Given the description of an element on the screen output the (x, y) to click on. 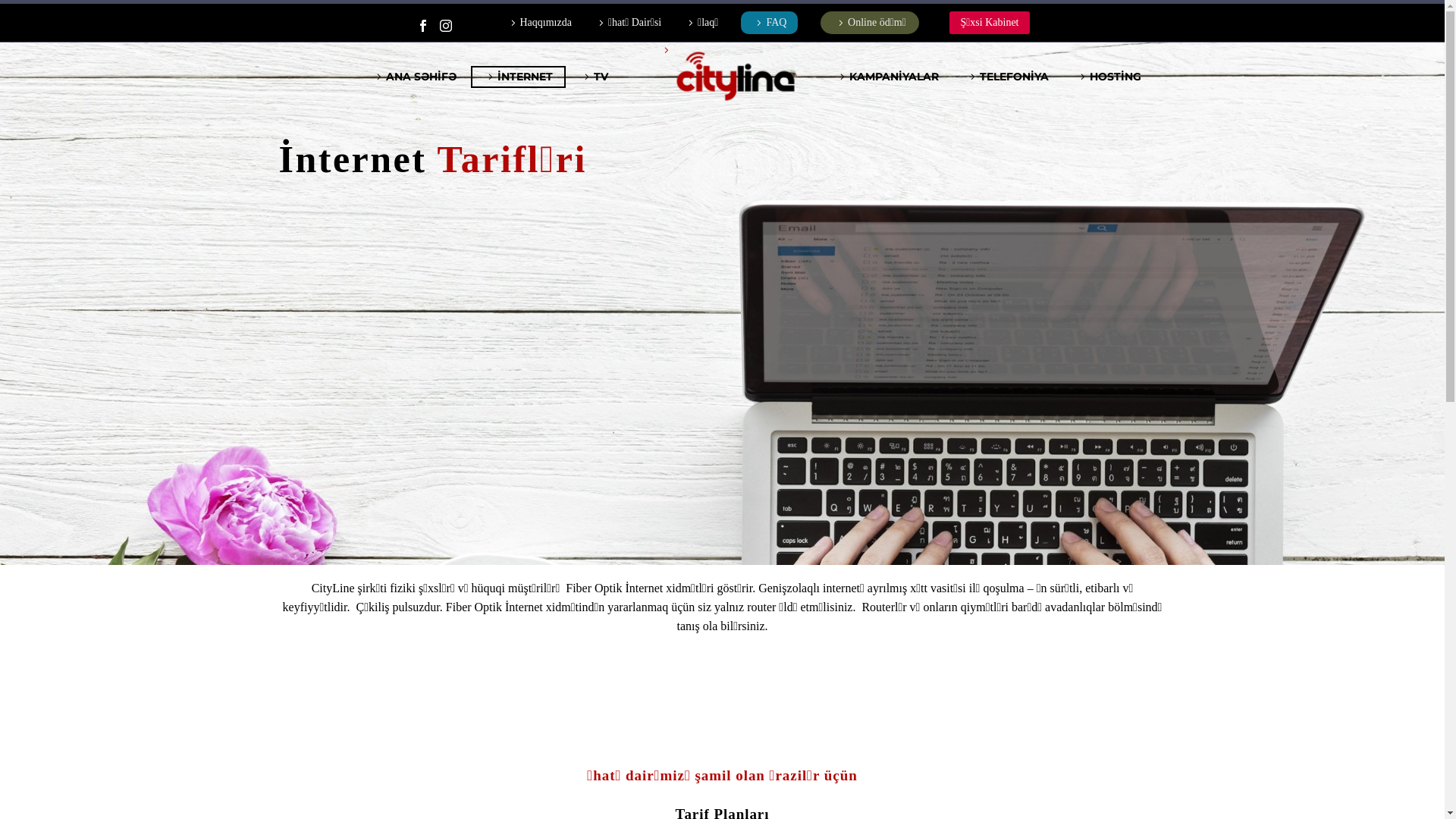
FAQ Element type: text (768, 22)
instagram Element type: hover (444, 25)
TV Element type: text (593, 76)
facebook Element type: hover (422, 25)
